Given the description of an element on the screen output the (x, y) to click on. 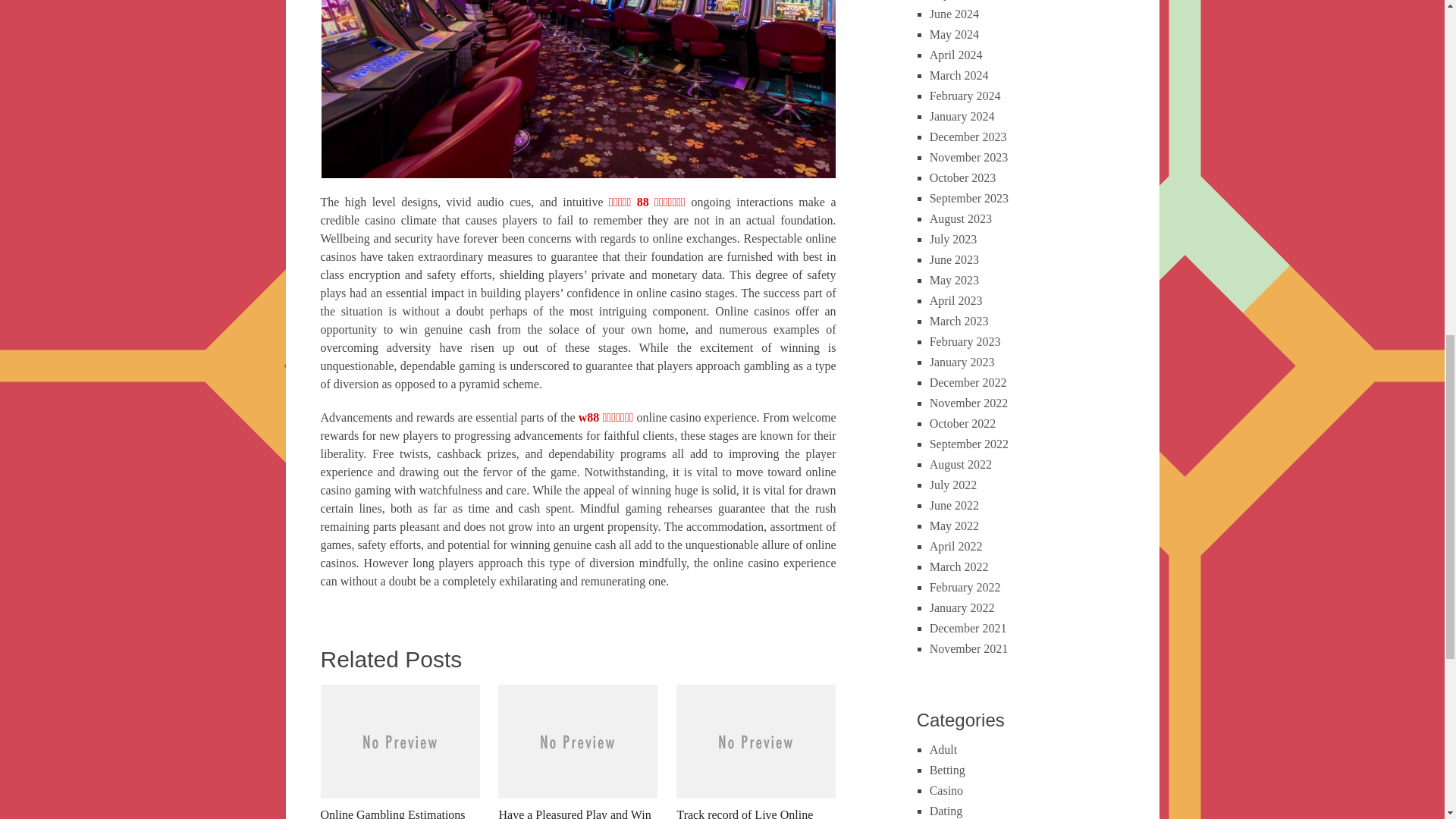
September 2023 (969, 197)
March 2024 (959, 74)
February 2024 (965, 95)
Have a Pleasured Play and Win in Online Casino Bet Site (577, 751)
January 2024 (962, 115)
April 2024 (956, 54)
June 2024 (954, 13)
November 2023 (969, 156)
October 2023 (962, 177)
Online Gambling Estimations And Stories (399, 751)
